Given the description of an element on the screen output the (x, y) to click on. 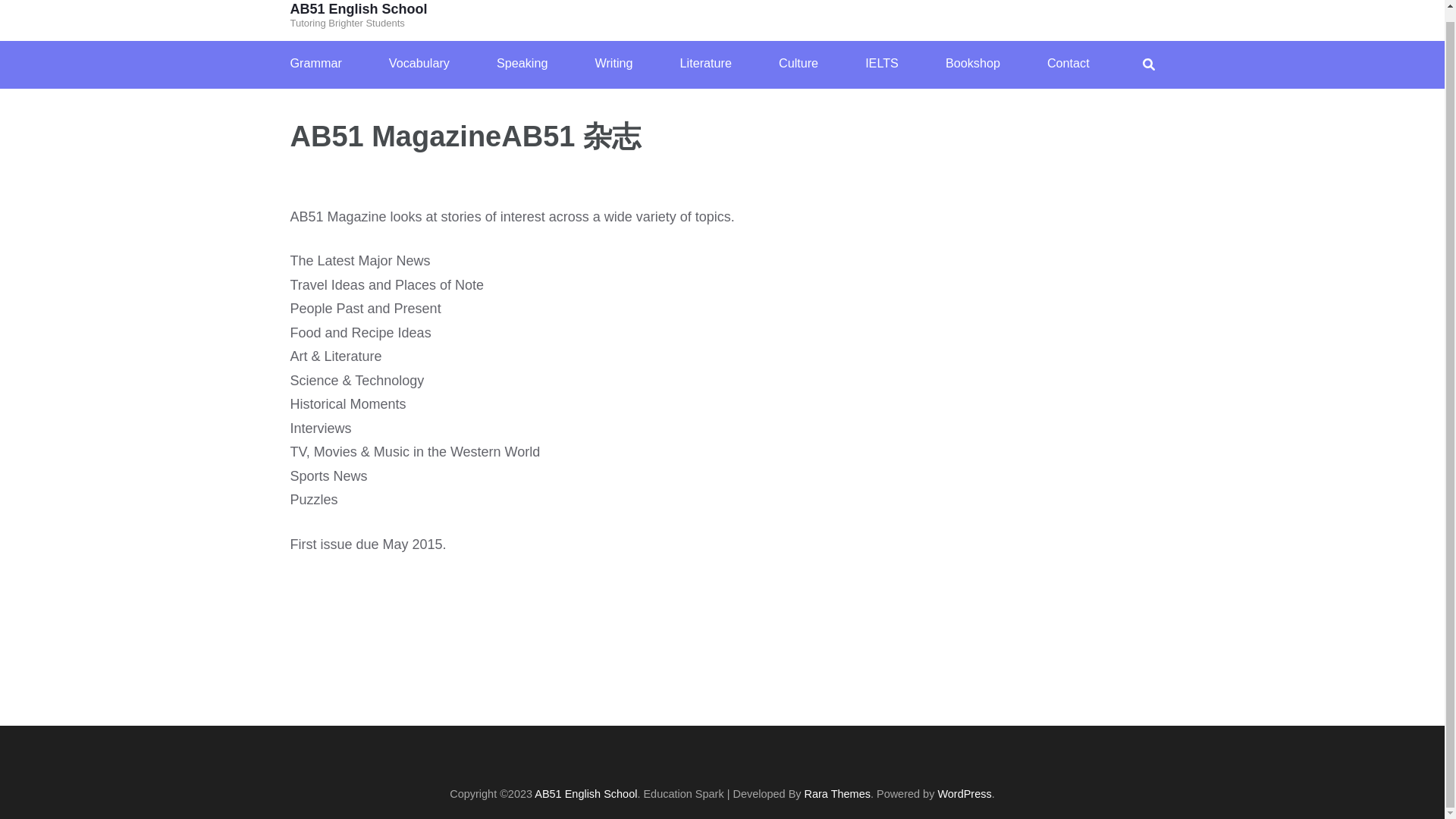
Rara Themes (837, 793)
WordPress (964, 793)
Literature (705, 62)
Vocabulary (418, 62)
Speaking (522, 62)
Contact (1067, 62)
Grammar (314, 62)
Bookshop (972, 62)
AB51 English School (357, 8)
AB51 English School (585, 793)
